Given the description of an element on the screen output the (x, y) to click on. 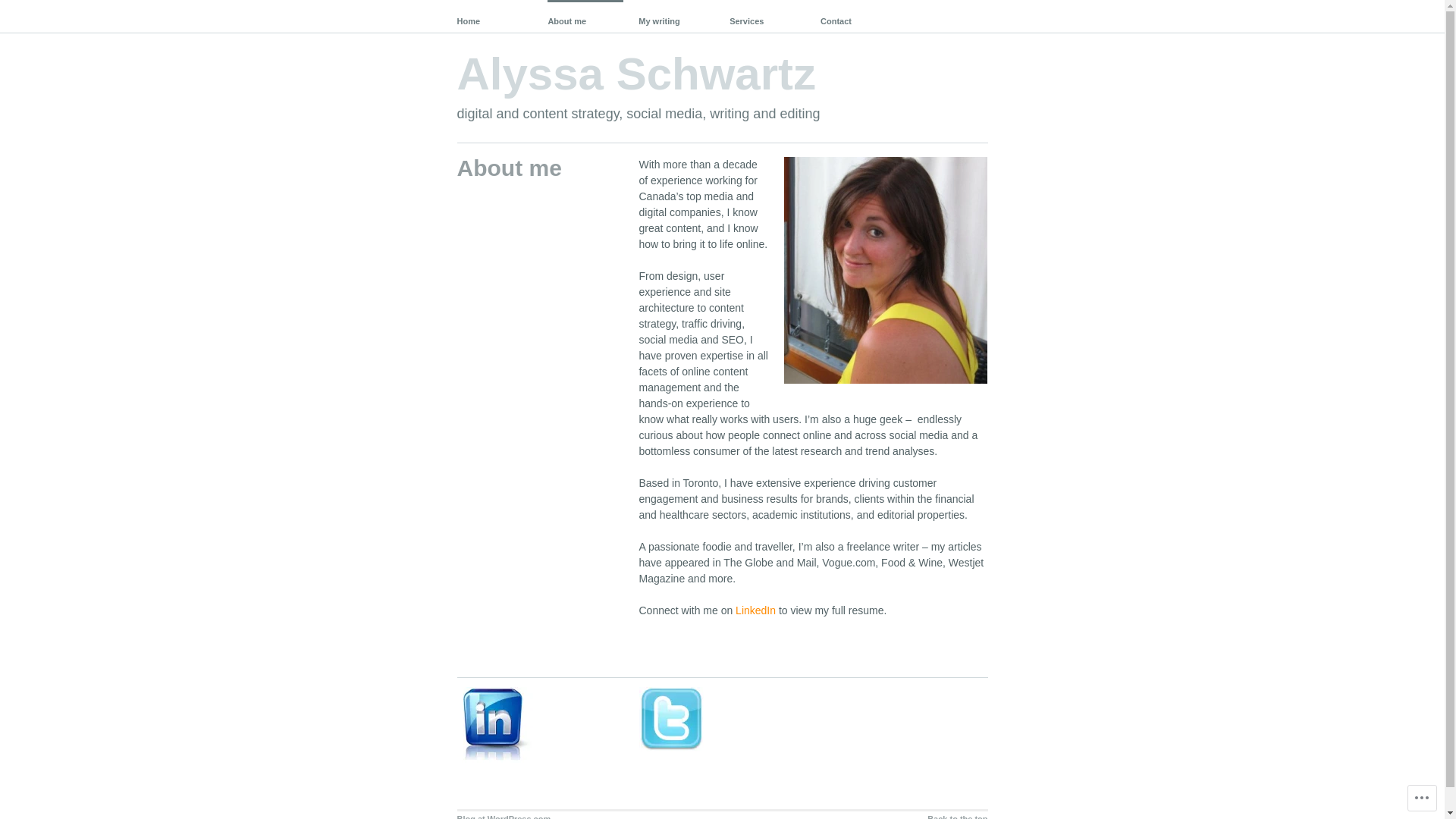
Contact Element type: text (858, 16)
Services Element type: text (767, 16)
About me Element type: text (585, 16)
Home Element type: text (494, 16)
Alyssa Schwartz Element type: text (635, 73)
LinkedIn Element type: text (755, 610)
Like or Reblog Element type: hover (812, 659)
My writing Element type: text (676, 16)
alyssa_pic_crop Element type: hover (885, 269)
